Given the description of an element on the screen output the (x, y) to click on. 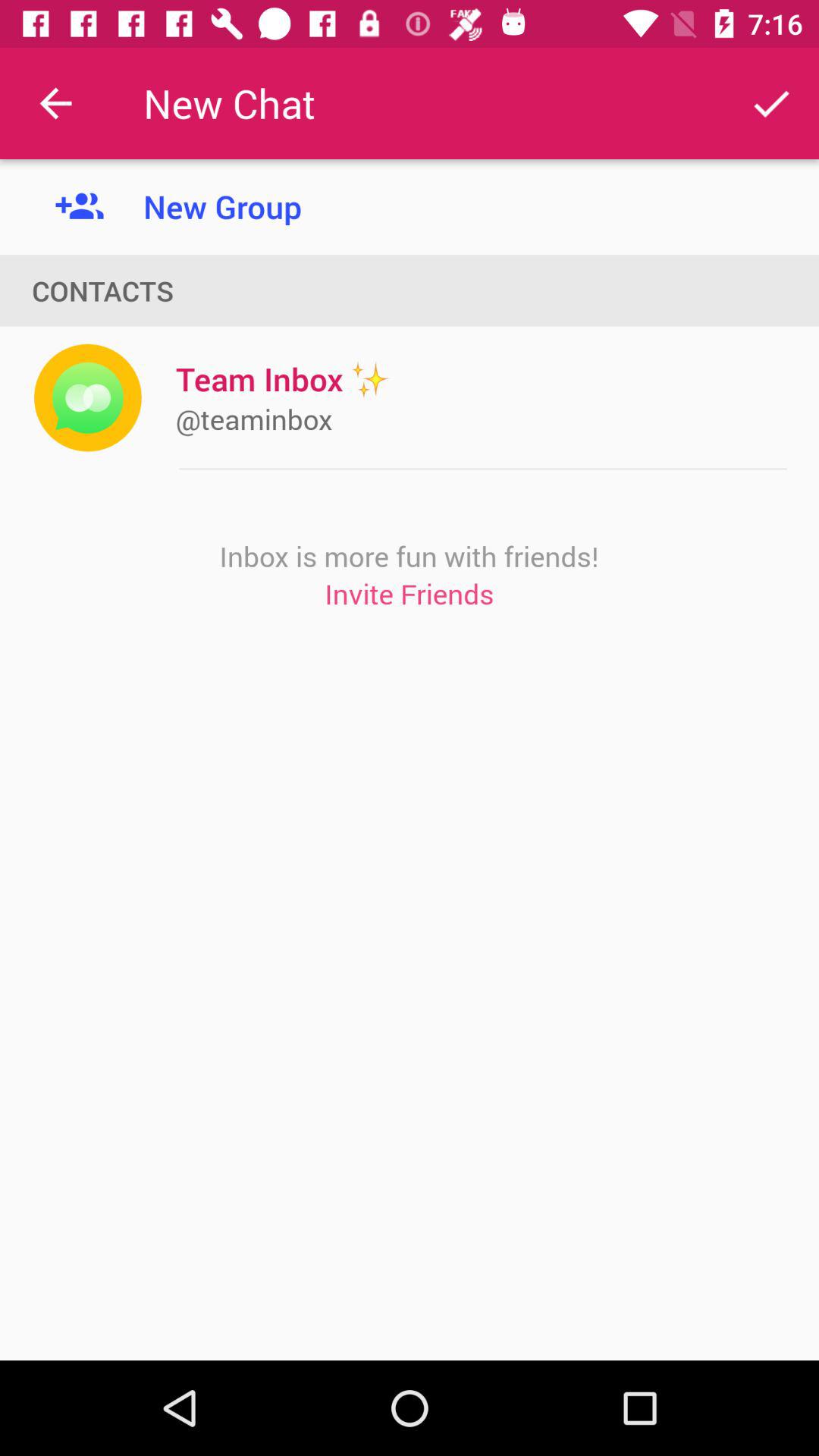
launch item next to the new group item (55, 103)
